Given the description of an element on the screen output the (x, y) to click on. 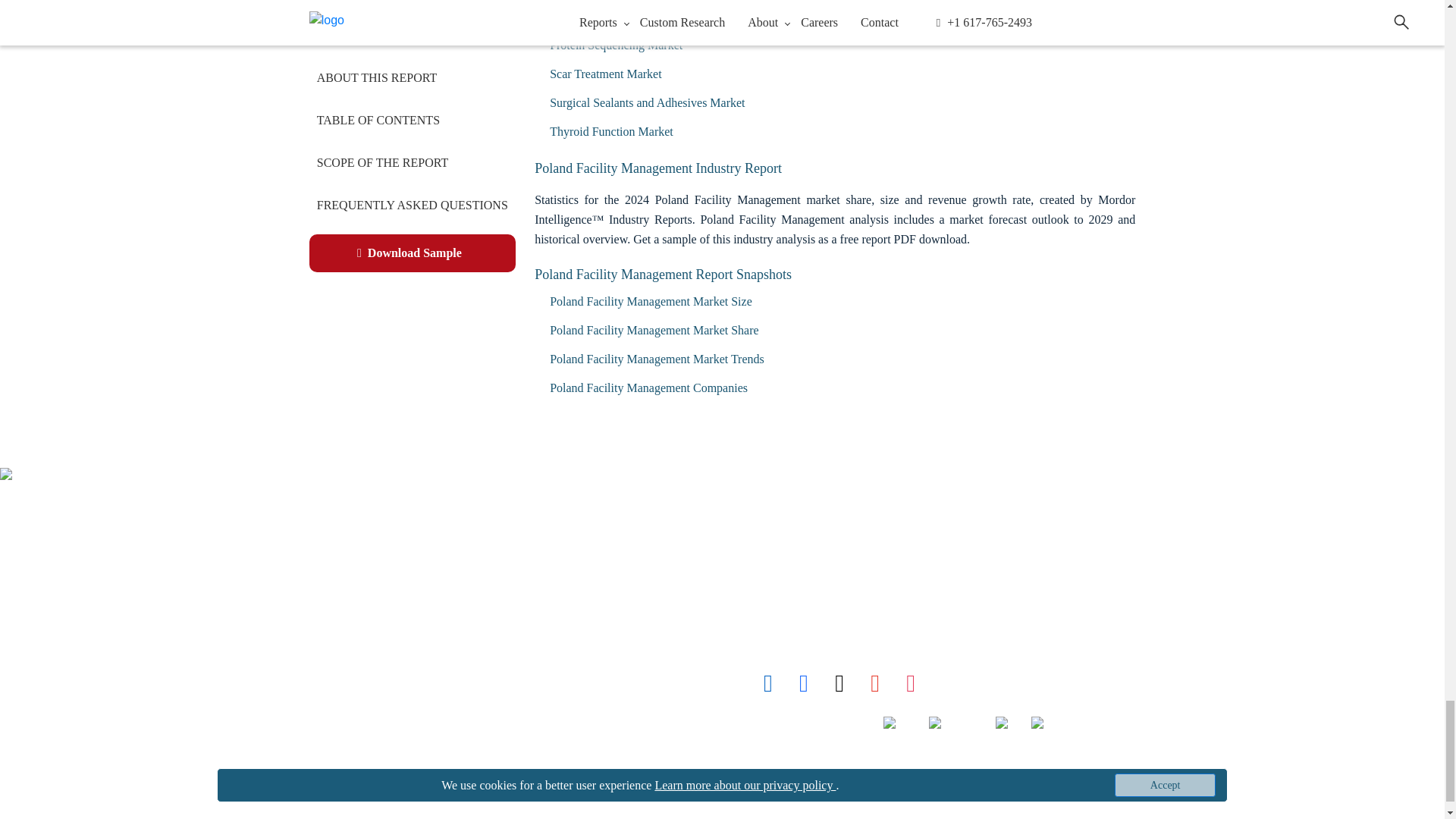
View our HTML sitemap (330, 789)
View our industry reports (327, 556)
Visit our homepage (323, 522)
View our XML sitemap (322, 757)
Learn more about us (332, 590)
Explore more (351, 623)
See who we've worked with (336, 656)
Learn about our privacy policy (344, 723)
